Given the description of an element on the screen output the (x, y) to click on. 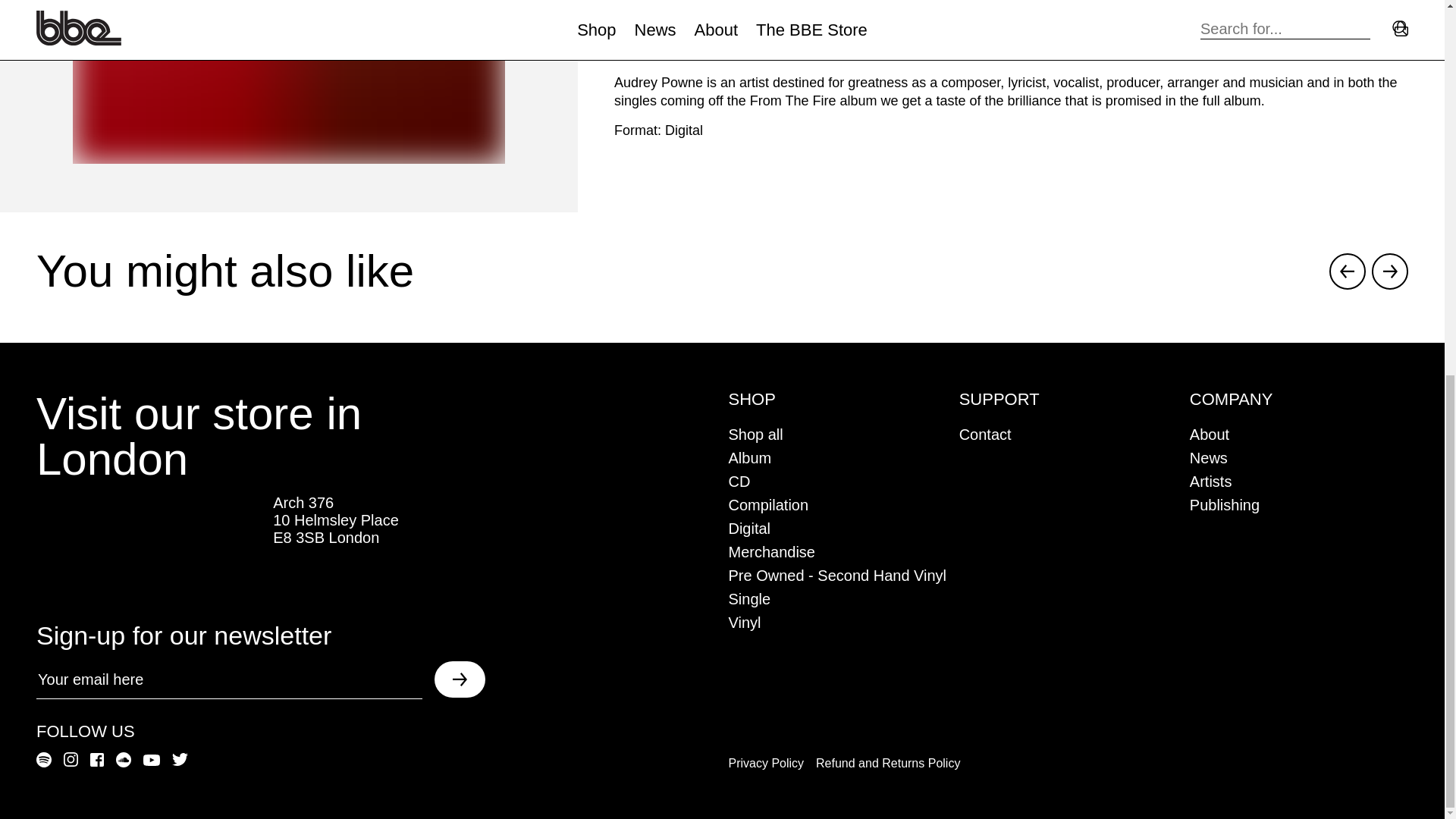
Refund and Returns Policy (887, 762)
Single (749, 598)
Artists (1210, 481)
Digital (749, 528)
Shop all (755, 434)
Album (749, 457)
Merchandise (771, 551)
Vinyl (744, 622)
CD (738, 481)
Publishing (1224, 504)
Compilation (768, 504)
Pre Owned - Second Hand Vinyl (837, 575)
About (1208, 434)
Contact (985, 434)
News (1208, 457)
